Given the description of an element on the screen output the (x, y) to click on. 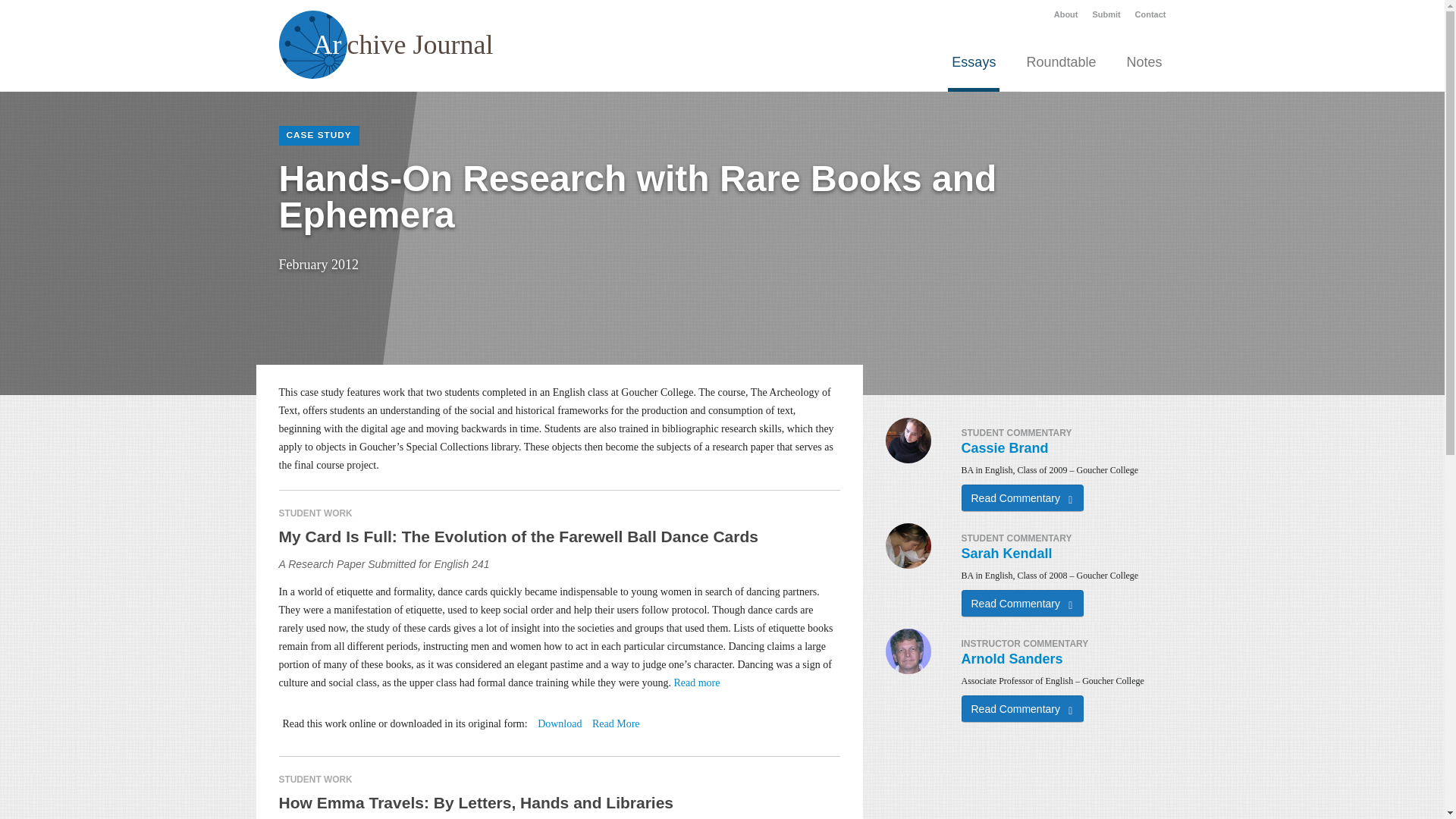
Archive Journal (386, 44)
Contact (1150, 13)
Read Commentary (1021, 708)
Arnold Sanders (1011, 658)
Essays (972, 68)
Download (558, 723)
Sarah Kendall (1006, 553)
About (1066, 13)
Read Commentary (1021, 603)
Cassie Brand (1004, 447)
Read Commentary (1021, 497)
Roundtable (1060, 68)
Submit (1105, 13)
Notes (1144, 68)
